Given the description of an element on the screen output the (x, y) to click on. 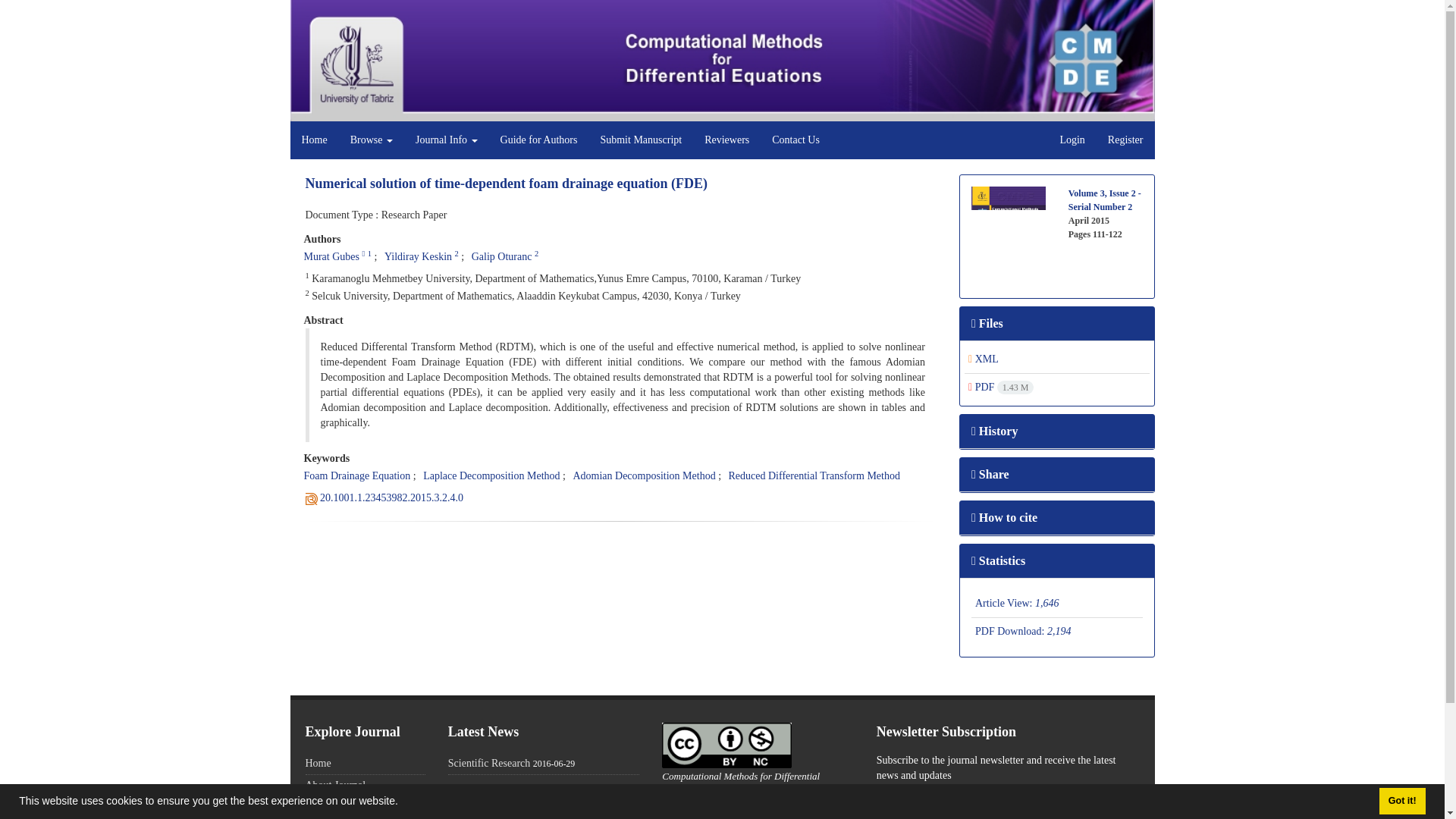
Register (1125, 139)
Murat Gubes (330, 256)
Submit Manuscript (640, 139)
Got it! (1401, 800)
Guide for Authors (539, 139)
Laplace Decomposition Method (491, 475)
Adomian Decomposition Method (643, 475)
Home (313, 139)
Foam Drainage Equation (356, 475)
Contact Us (795, 139)
